Given the description of an element on the screen output the (x, y) to click on. 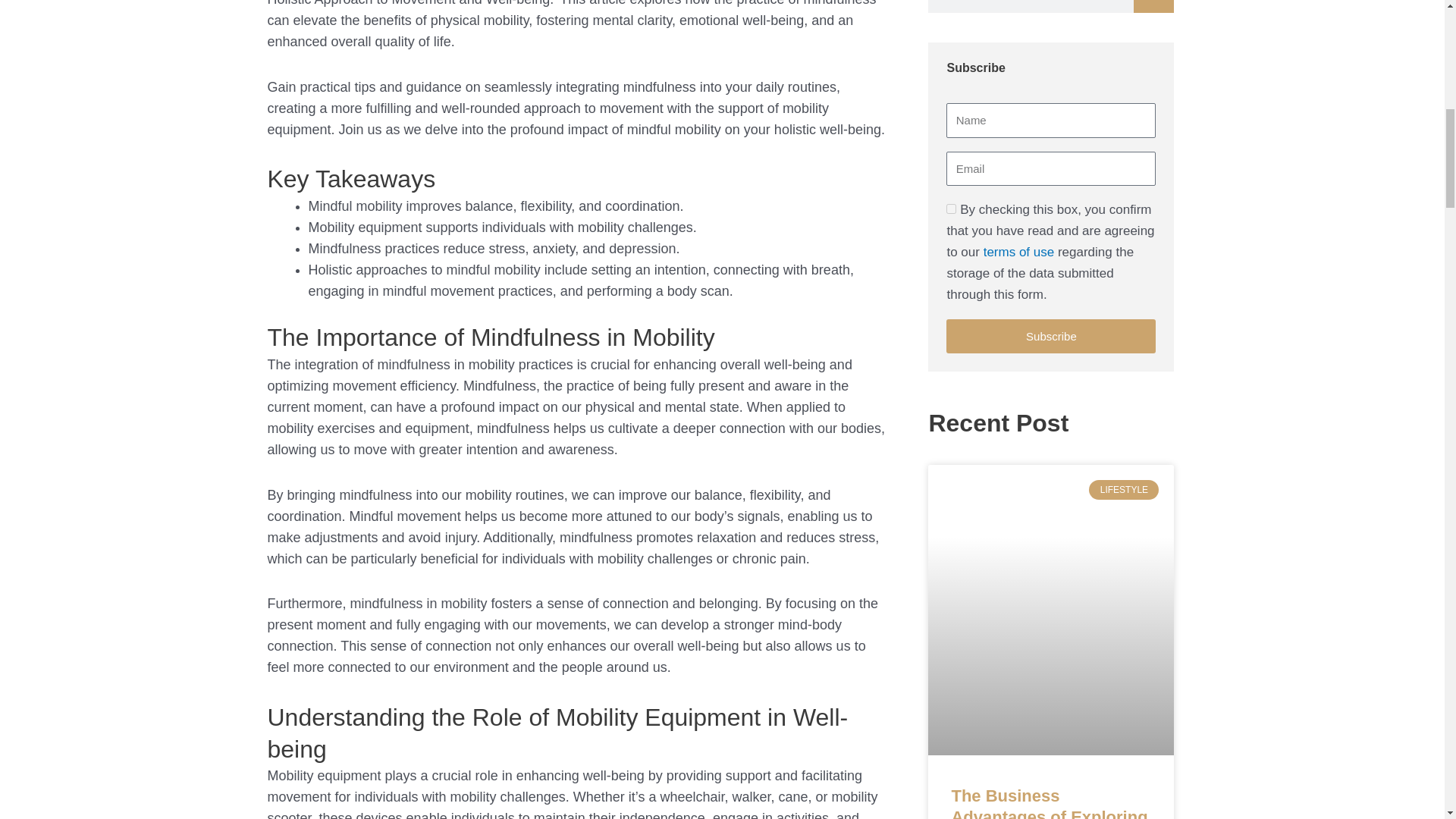
on (951, 208)
Subscribe (1051, 335)
Go (1153, 6)
terms of use (1019, 251)
